Given the description of an element on the screen output the (x, y) to click on. 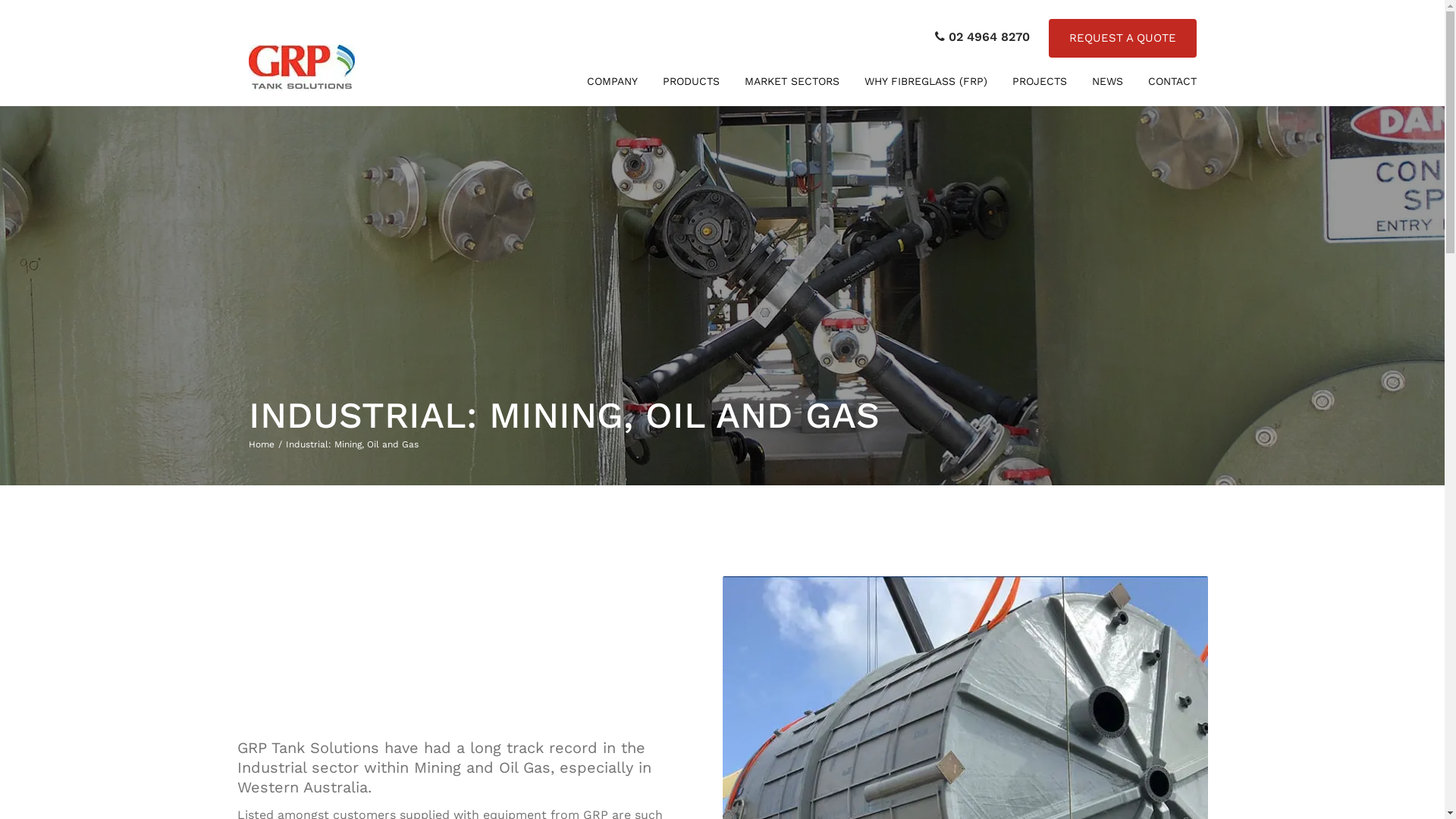
COMPANY Element type: text (612, 81)
WHY FIBREGLASS (FRP) Element type: text (925, 81)
PROJECTS Element type: text (1038, 81)
Home Element type: text (266, 444)
MARKET SECTORS Element type: text (792, 81)
NEWS Element type: text (1107, 81)
02 4964 8270 Element type: text (981, 37)
CONTACT Element type: text (1172, 81)
REQUEST A QUOTE Element type: text (1121, 37)
PRODUCTS Element type: text (691, 81)
